Given the description of an element on the screen output the (x, y) to click on. 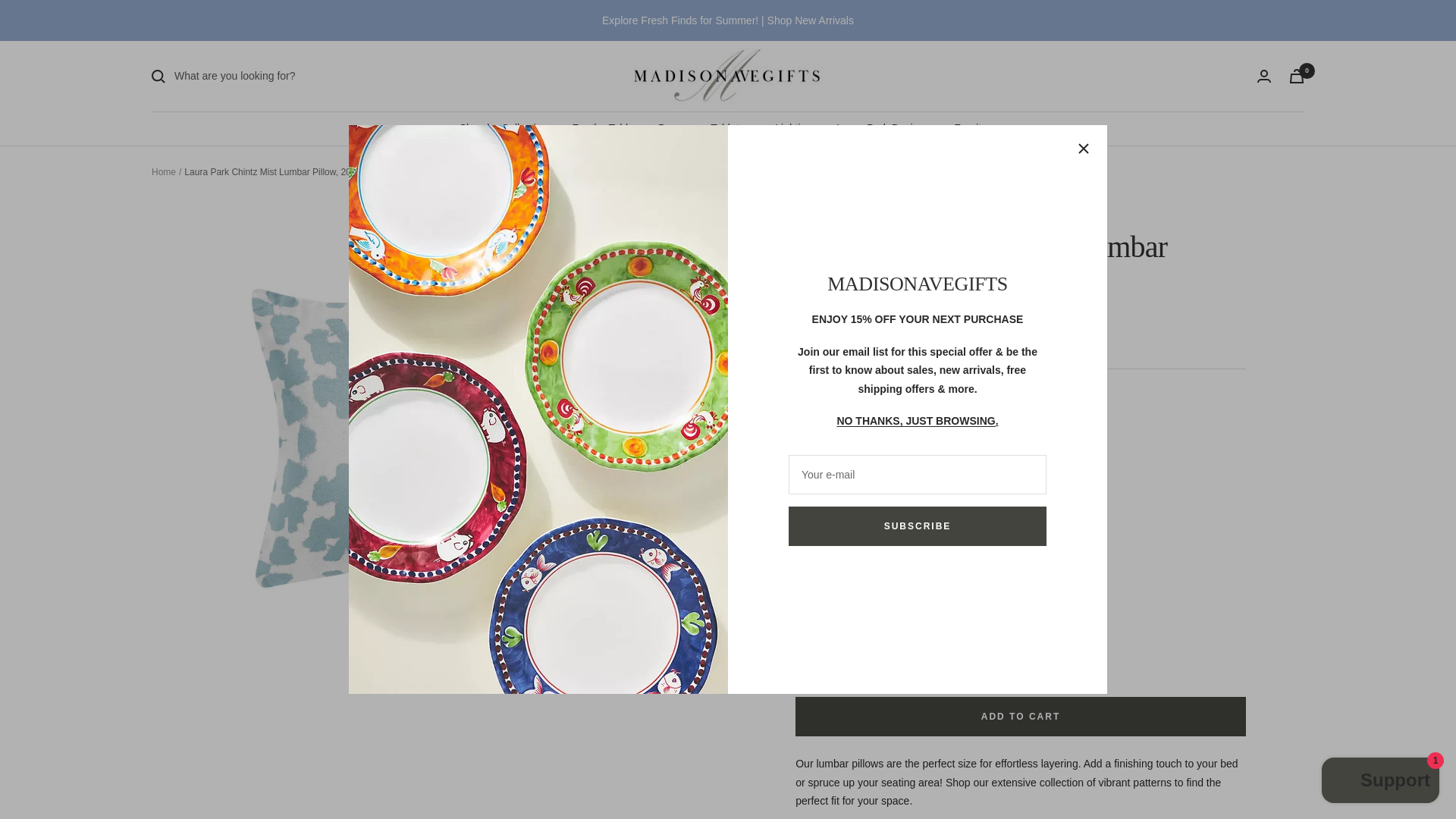
Decor (671, 127)
Shopify online store chat (1380, 781)
Increase quantity (883, 430)
Zoom (692, 654)
NO THANKS, JUST BROWSING (914, 420)
1 (848, 430)
Decrease quantity (813, 430)
Furniture (974, 127)
Laura Park Designs (882, 127)
0 (1296, 75)
MadisonAveGifts.com (727, 75)
Shop by Collection (504, 127)
For the Table (602, 127)
Lighting (793, 127)
Tabletop (730, 127)
